Given the description of an element on the screen output the (x, y) to click on. 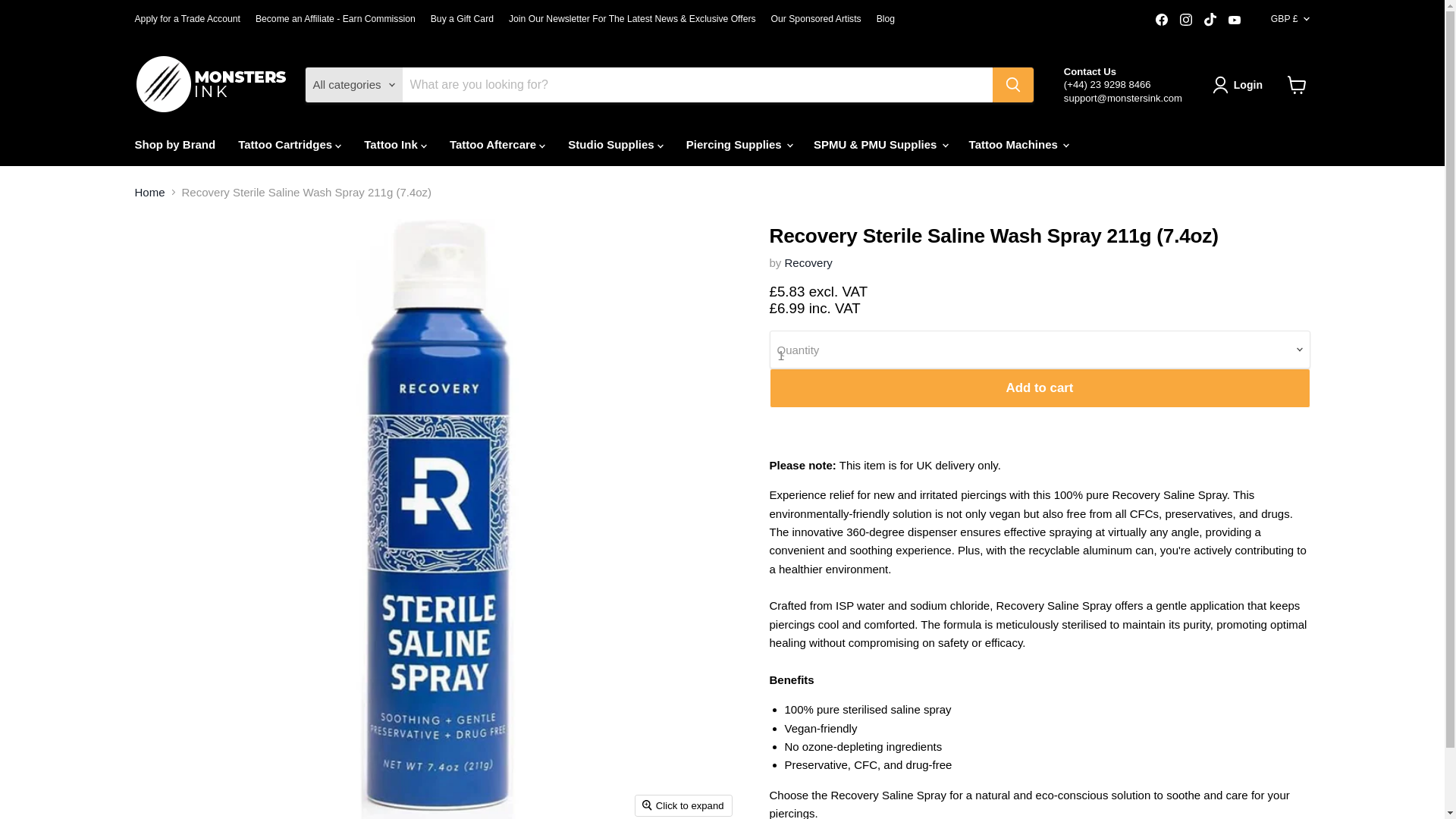
Find us on YouTube (1234, 19)
TikTok (1210, 19)
Find us on Instagram (1185, 19)
Instagram (1185, 19)
Blog (885, 18)
YouTube (1234, 19)
Become an Affiliate - Earn Commission (335, 18)
Find us on TikTok (1210, 19)
Buy a Gift Card (461, 18)
Find us on Facebook (1161, 19)
Recovery (808, 262)
Our Sponsored Artists (816, 18)
View cart (1296, 84)
Apply for a Trade Account (187, 18)
Login (1240, 85)
